Given the description of an element on the screen output the (x, y) to click on. 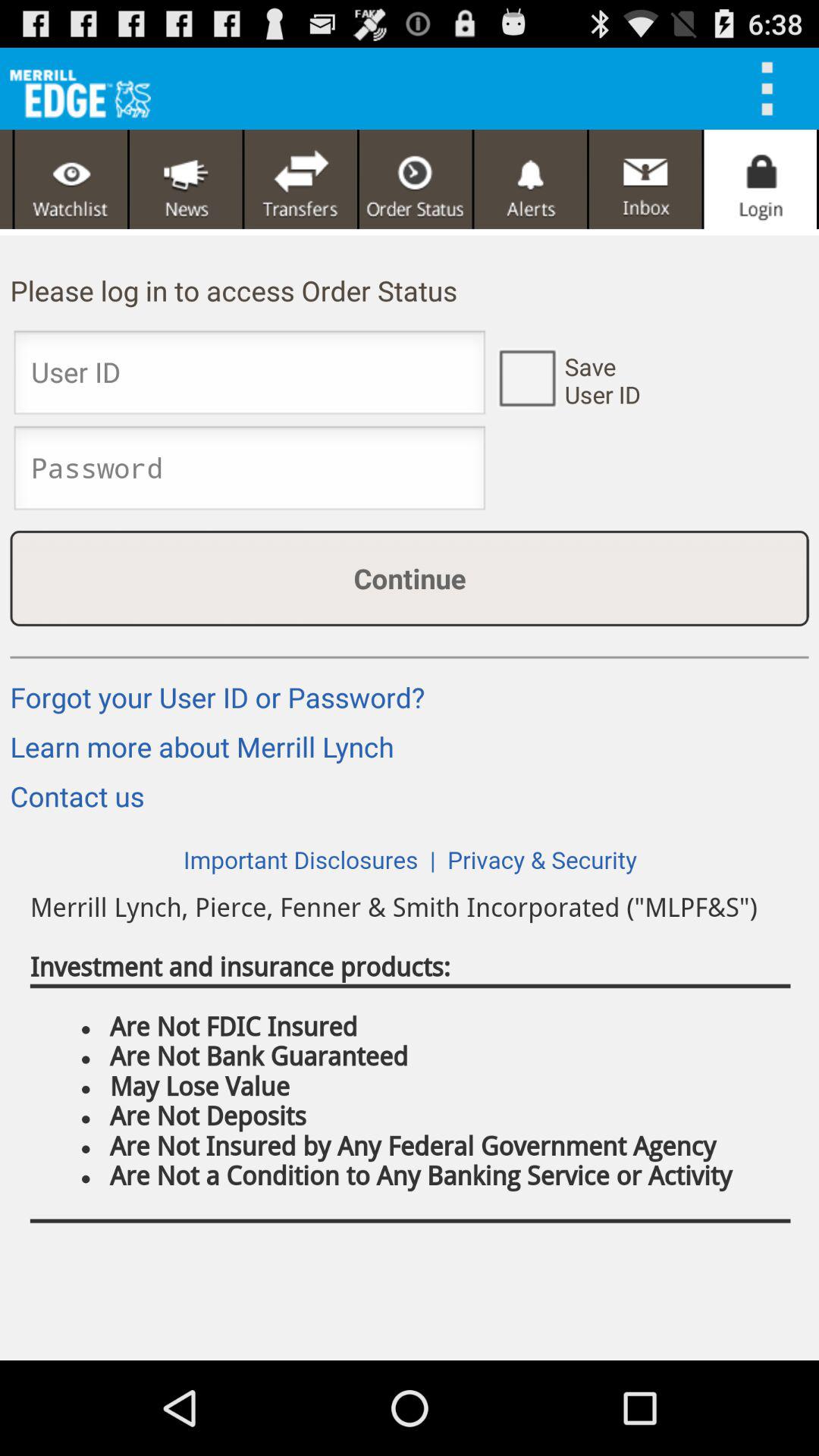
go to watchlist (70, 179)
